Given the description of an element on the screen output the (x, y) to click on. 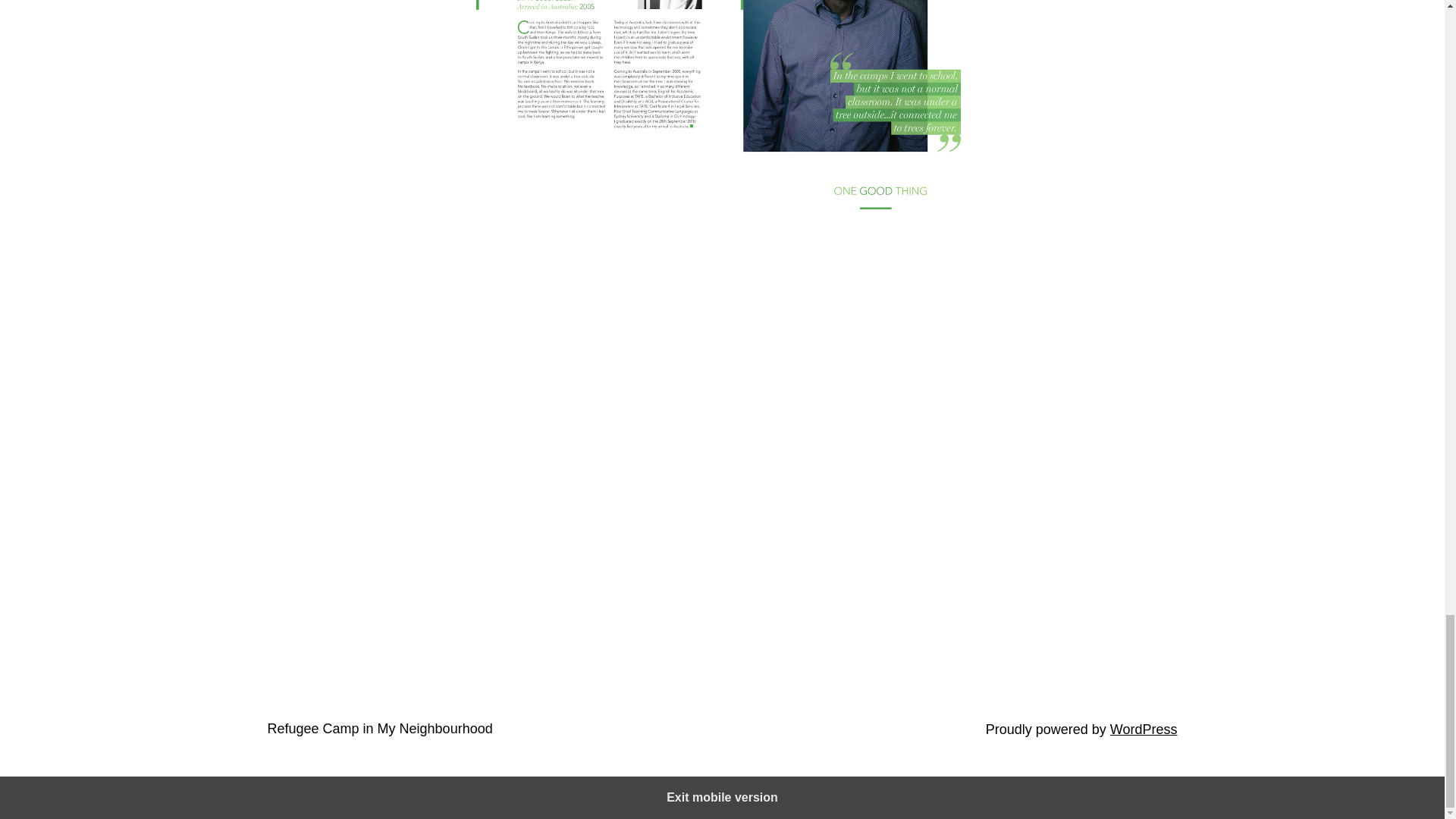
WordPress (1143, 729)
Refugee Camp in My Neighbourhood (379, 728)
